Given the description of an element on the screen output the (x, y) to click on. 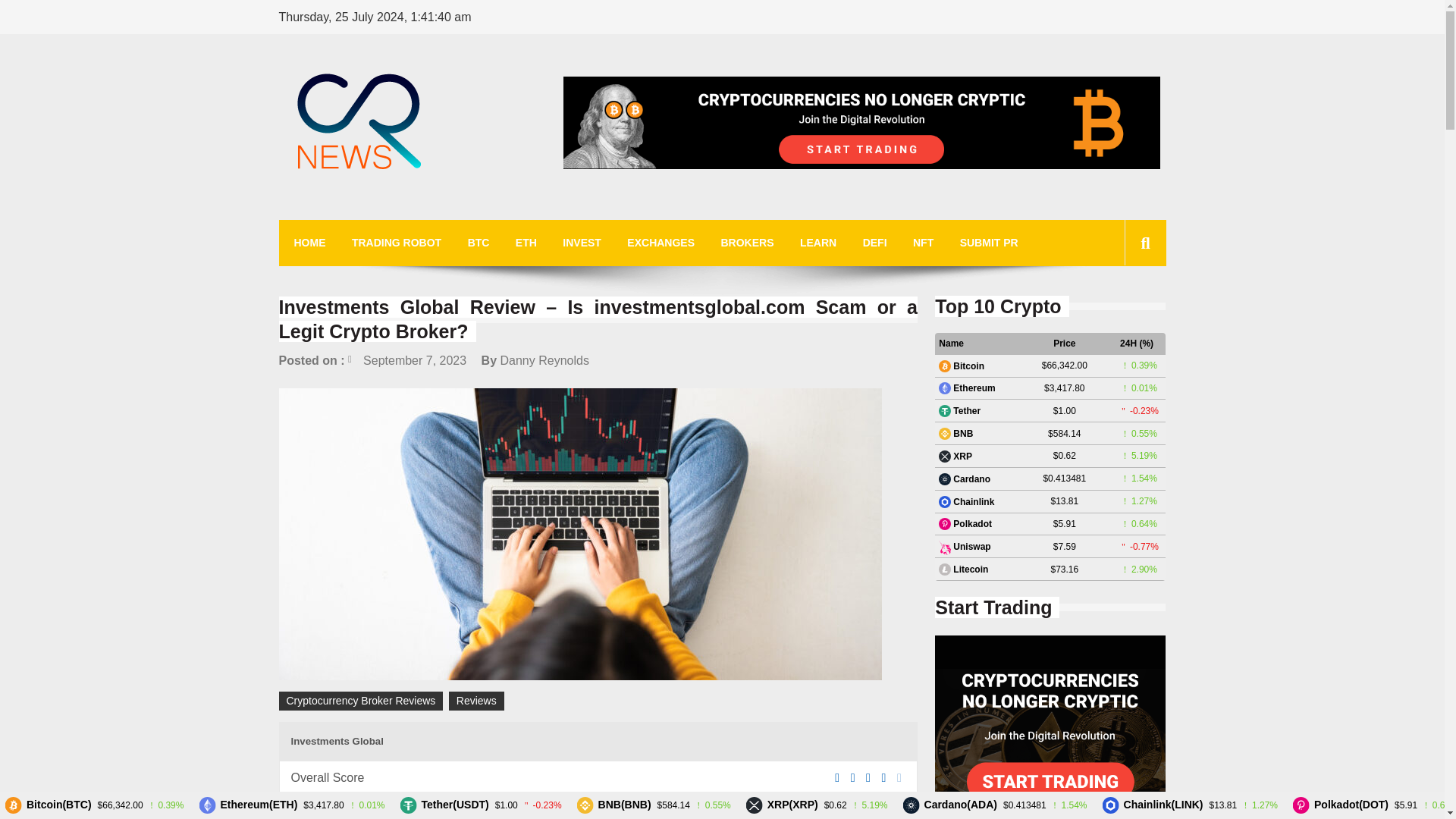
Reviews (475, 700)
September 7, 2023 (406, 359)
SUBMIT PR (988, 243)
CryptocyNews.com (402, 212)
EXCHANGES (660, 243)
Cryptocurrency Broker Reviews (361, 700)
BROKERS (746, 243)
cryptocy-2-1 - CryptocyNews.com (359, 123)
Posts by Danny Reynolds (544, 359)
Search (1120, 311)
TRADING ROBOT (396, 243)
Trading Robot Review (1050, 727)
Danny Reynolds (544, 359)
Trading Robot Review (861, 122)
